Given the description of an element on the screen output the (x, y) to click on. 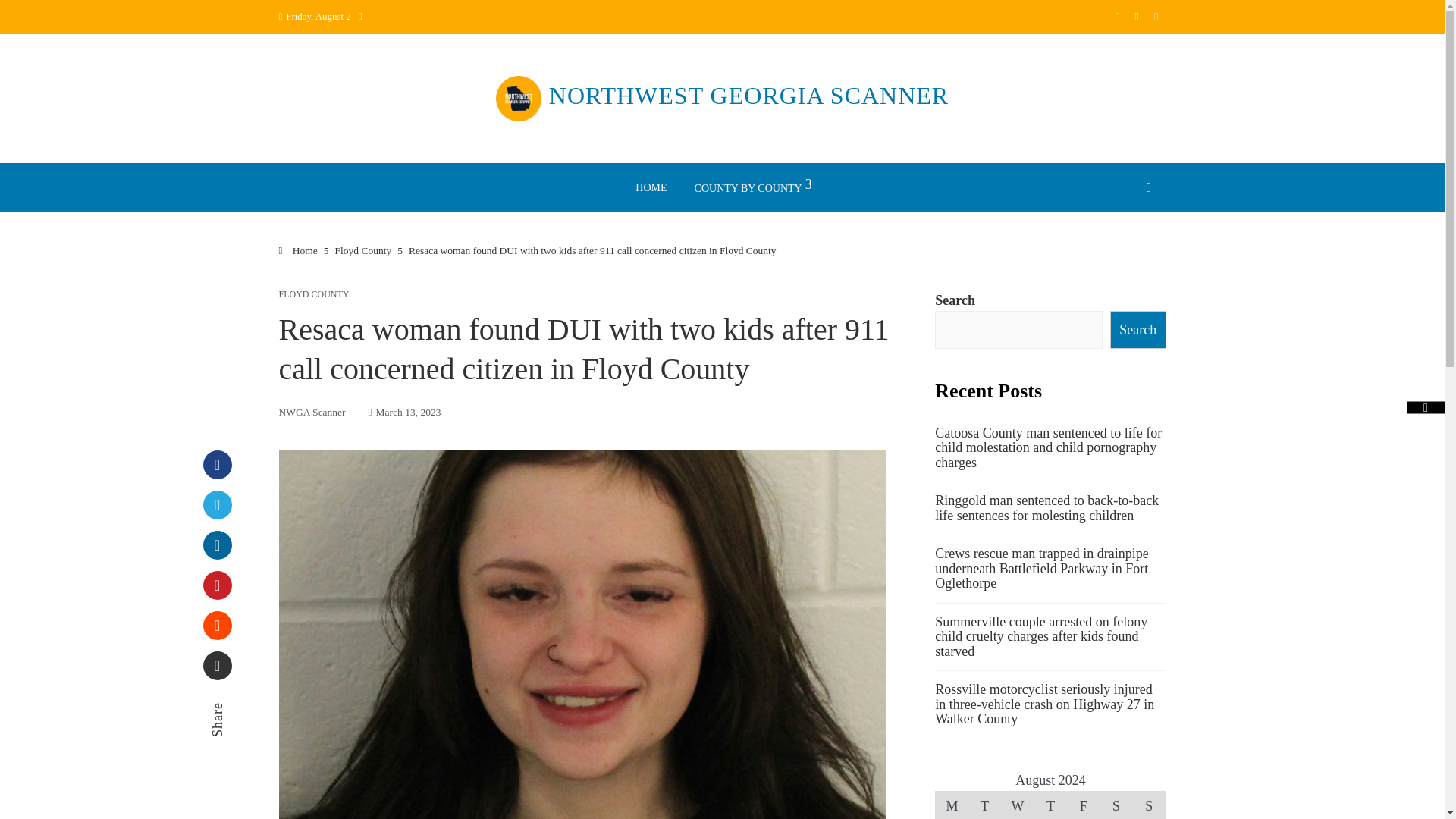
Twitter (217, 504)
Friday (1083, 805)
Wednesday (1017, 805)
Sunday (1149, 805)
Facebook (217, 464)
Monday (952, 805)
Pinterest (217, 584)
Floyd County (362, 250)
Home (298, 250)
Tuesday (984, 805)
Saturday (1115, 805)
LinkedIn (217, 544)
FLOYD COUNTY (314, 293)
COUNTY BY COUNTY (751, 187)
HOME (651, 186)
